Given the description of an element on the screen output the (x, y) to click on. 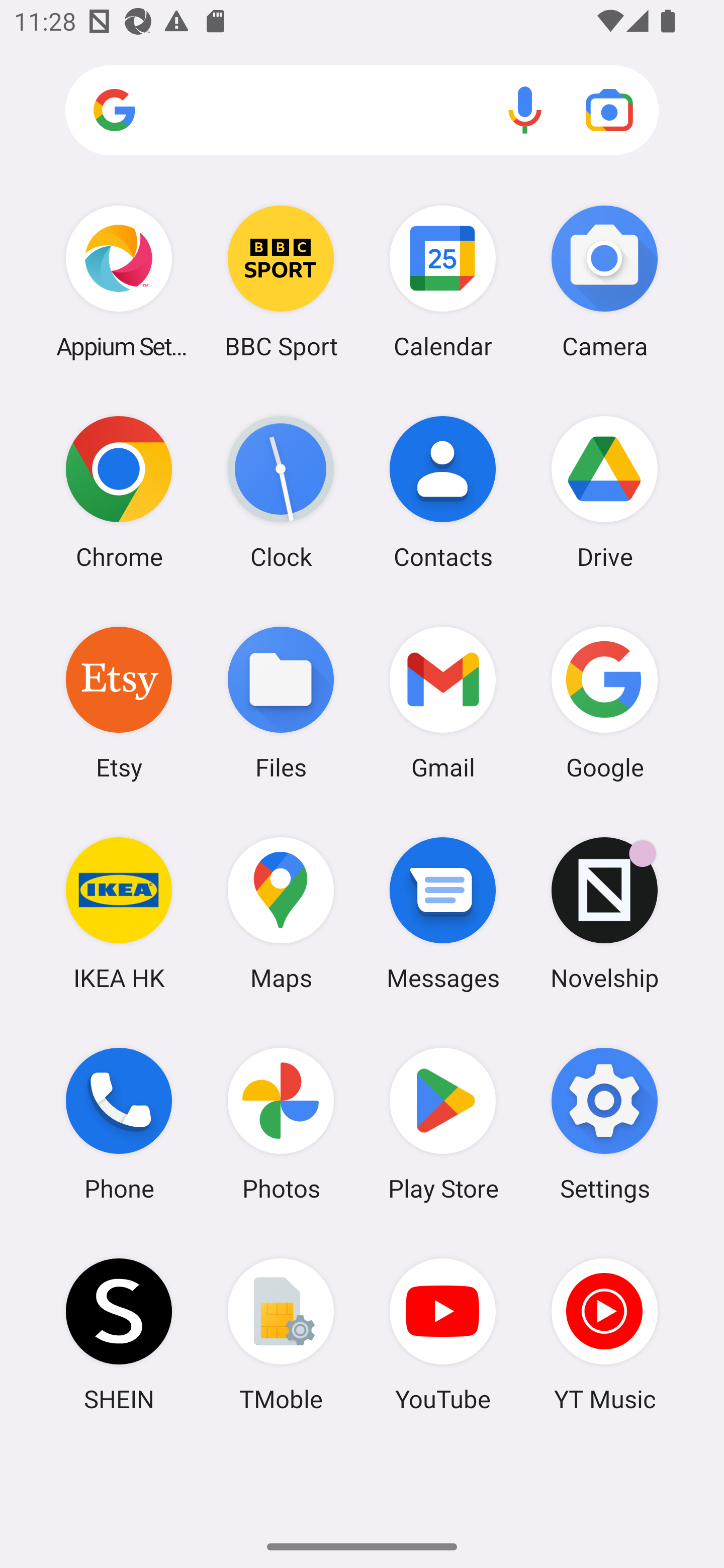
Search apps, web and more (361, 110)
Voice search (524, 109)
Google Lens (608, 109)
Appium Settings (118, 281)
BBC Sport (280, 281)
Calendar (443, 281)
Camera (604, 281)
Chrome (118, 492)
Clock (280, 492)
Contacts (443, 492)
Drive (604, 492)
Etsy (118, 702)
Files (280, 702)
Gmail (443, 702)
Google (604, 702)
IKEA HK (118, 913)
Maps (280, 913)
Messages (443, 913)
Novelship Novelship has 5 notifications (604, 913)
Phone (118, 1124)
Photos (280, 1124)
Play Store (443, 1124)
Settings (604, 1124)
SHEIN (118, 1334)
TMoble (280, 1334)
YouTube (443, 1334)
YT Music (604, 1334)
